Given the description of an element on the screen output the (x, y) to click on. 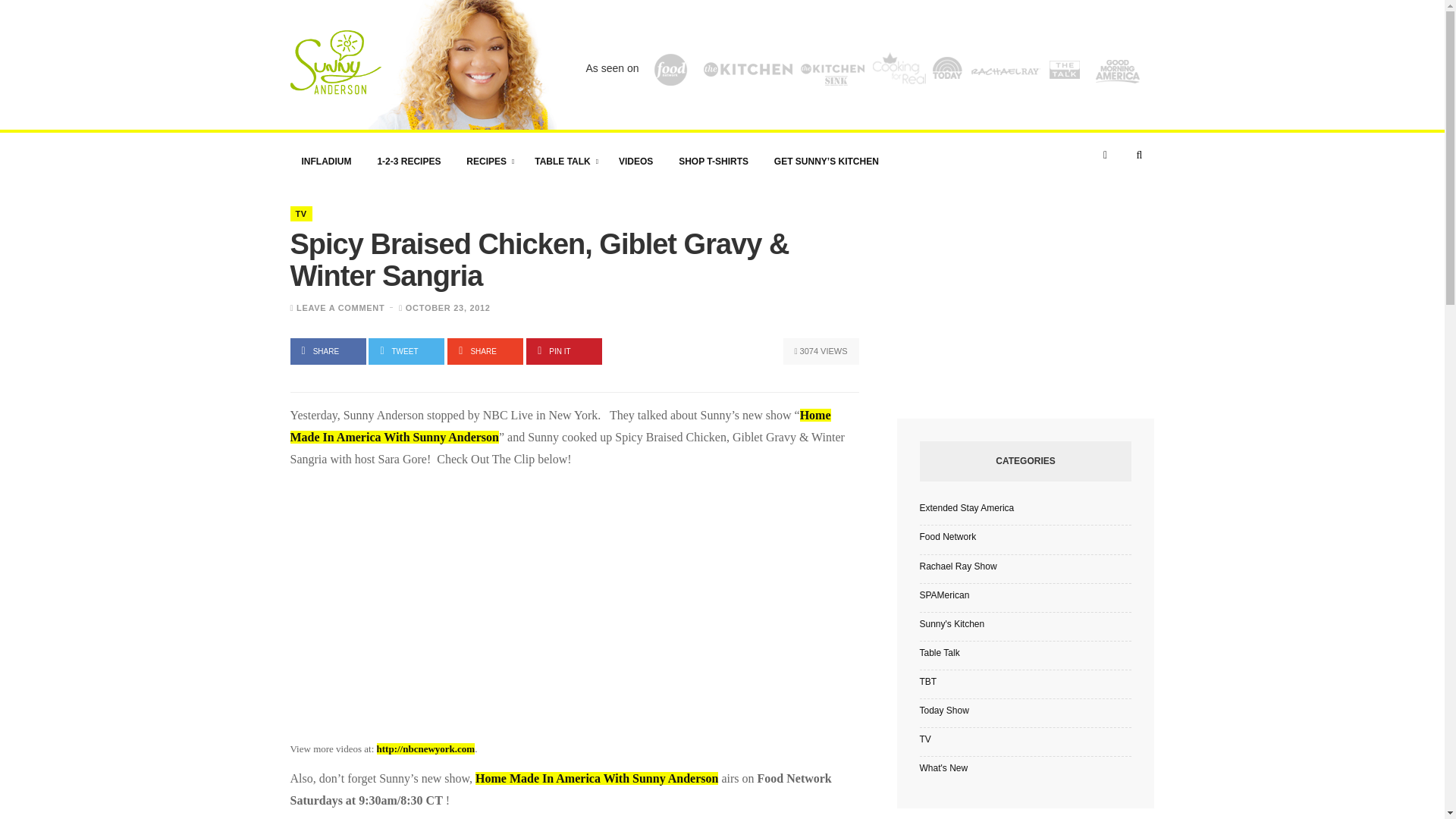
1-2-3 RECIPES (408, 161)
INFLADIUM (325, 161)
RECIPES (486, 161)
